Given the description of an element on the screen output the (x, y) to click on. 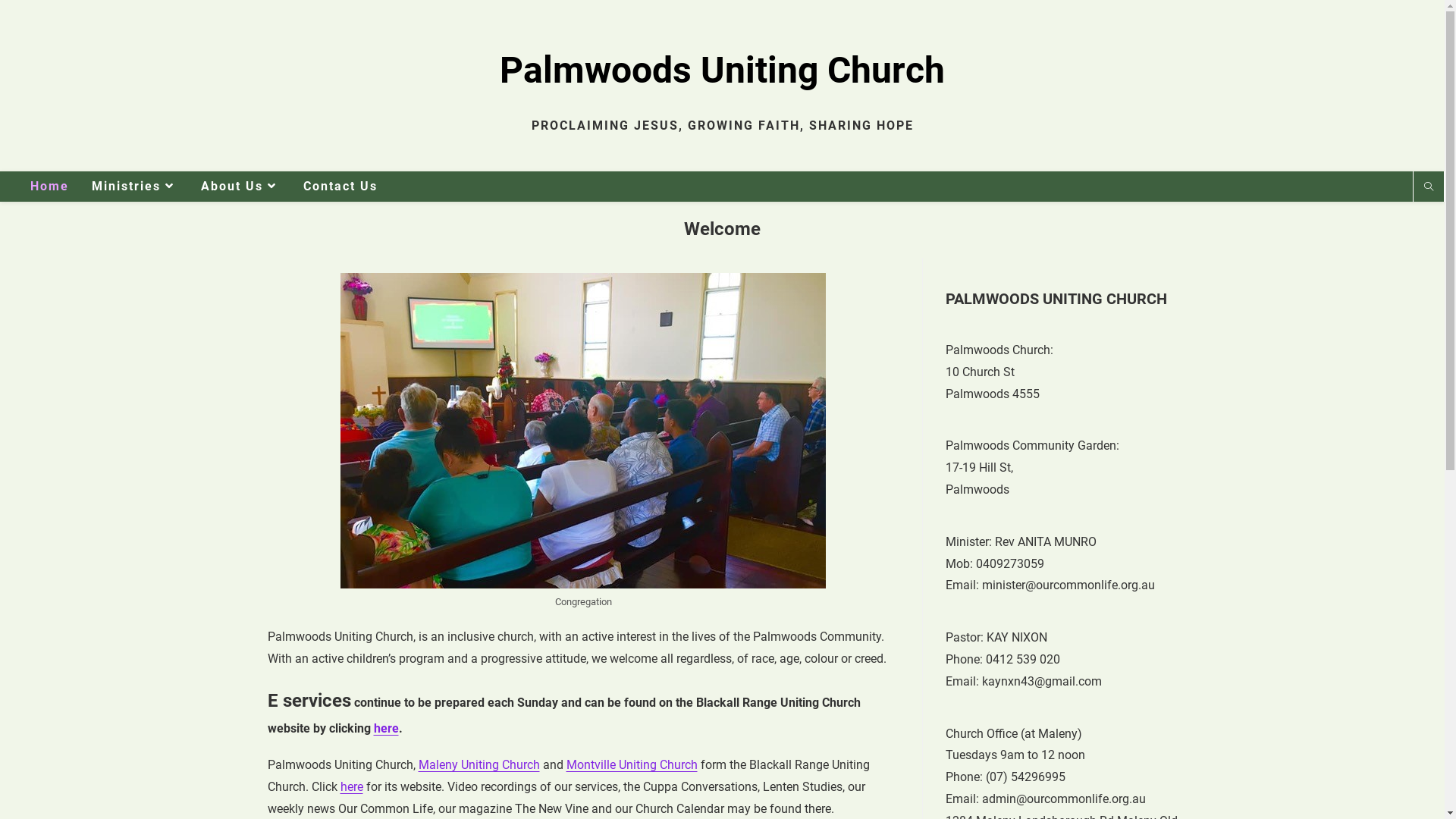
here Element type: text (385, 728)
Contact Us Element type: text (340, 186)
Montville Uniting Church Element type: text (630, 764)
About Us Element type: text (240, 186)
Palmwoods Uniting Church Element type: text (721, 69)
Maleny Uniting Church Element type: text (478, 764)
Home Element type: text (49, 186)
Ministries Element type: text (134, 186)
here Element type: text (350, 786)
